Given the description of an element on the screen output the (x, y) to click on. 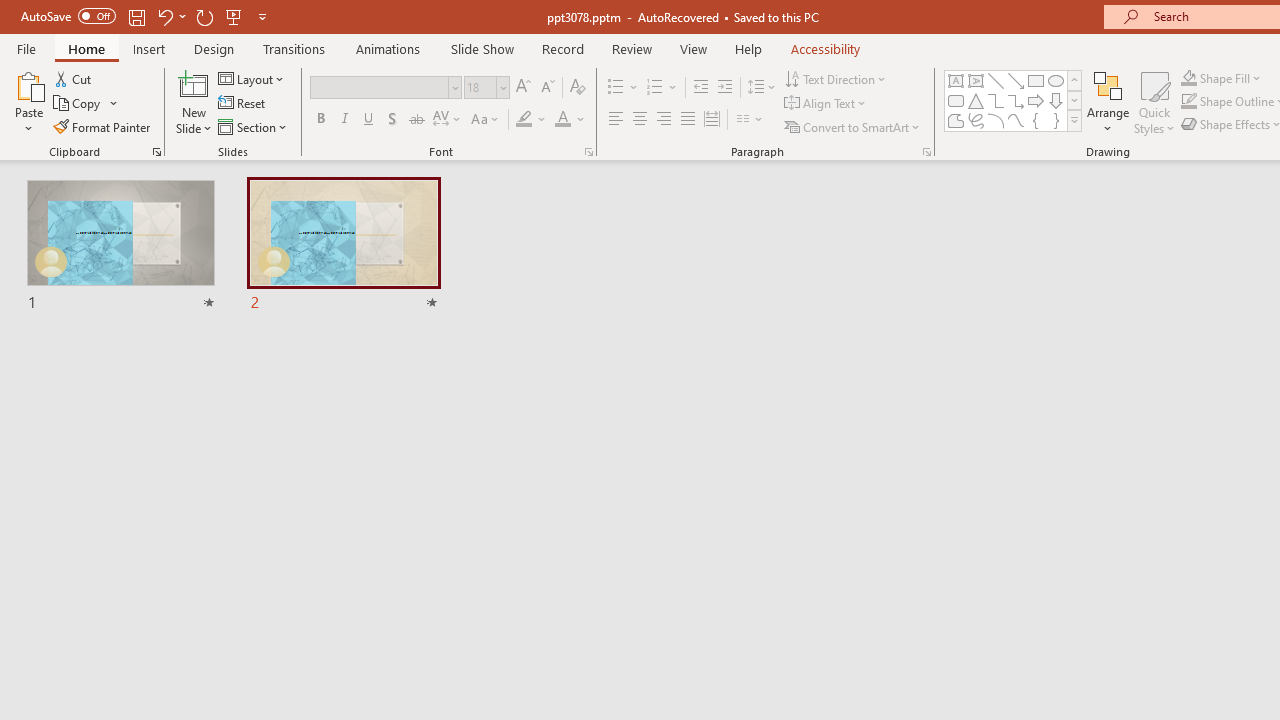
Text Box (955, 80)
Vertical Text Box (975, 80)
Italic (344, 119)
Transitions (294, 48)
Decrease Indent (700, 87)
Arrow: Right (1035, 100)
Bullets (616, 87)
Shapes (1074, 120)
Isosceles Triangle (975, 100)
Shape Fill (1221, 78)
Section (254, 126)
